Given the description of an element on the screen output the (x, y) to click on. 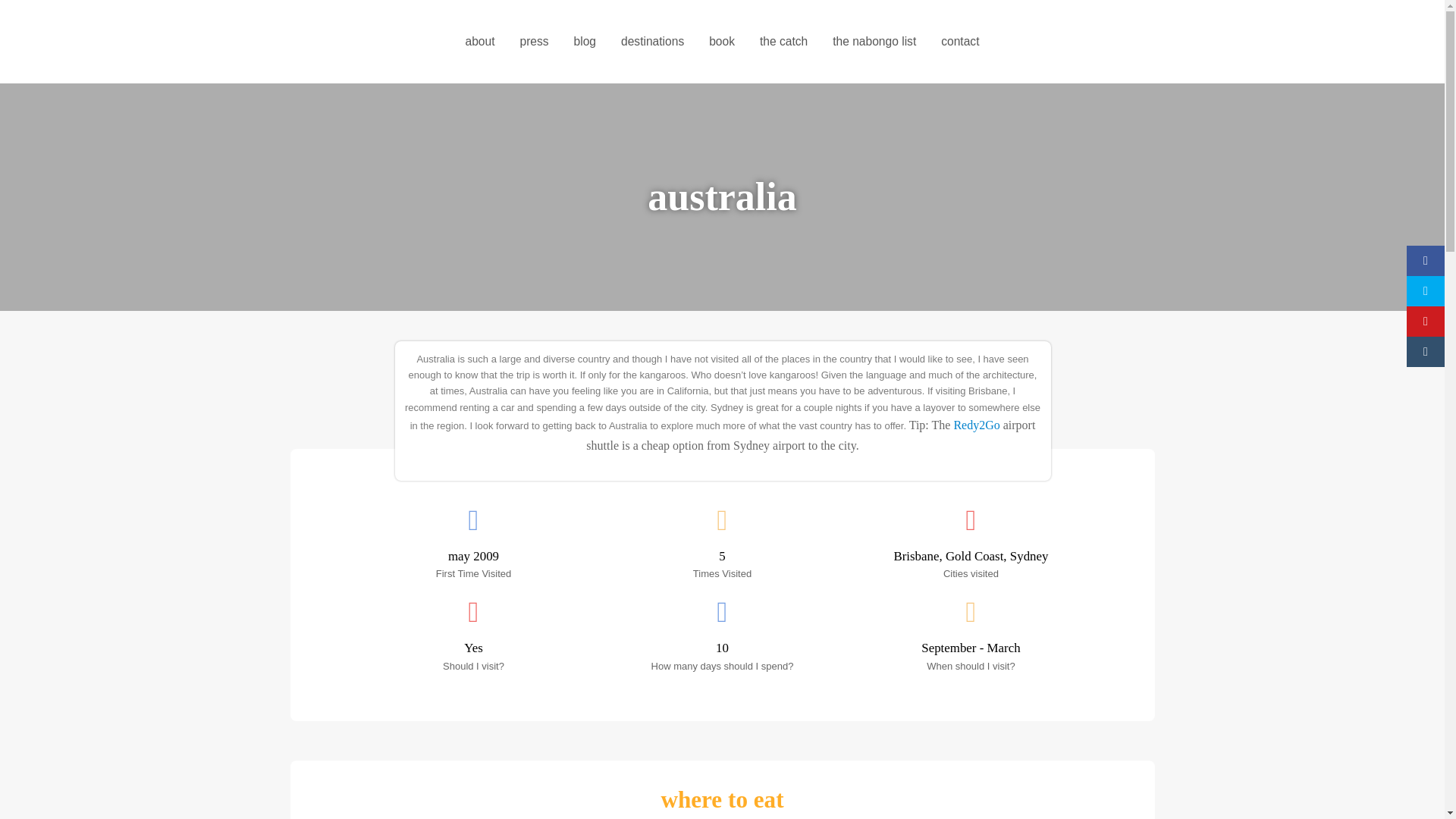
about (479, 41)
book (722, 41)
blog (584, 41)
the catch (782, 41)
destinations (652, 41)
the nabongo list (874, 41)
press (533, 41)
Redy2Go  (978, 424)
contact (959, 41)
